Given the description of an element on the screen output the (x, y) to click on. 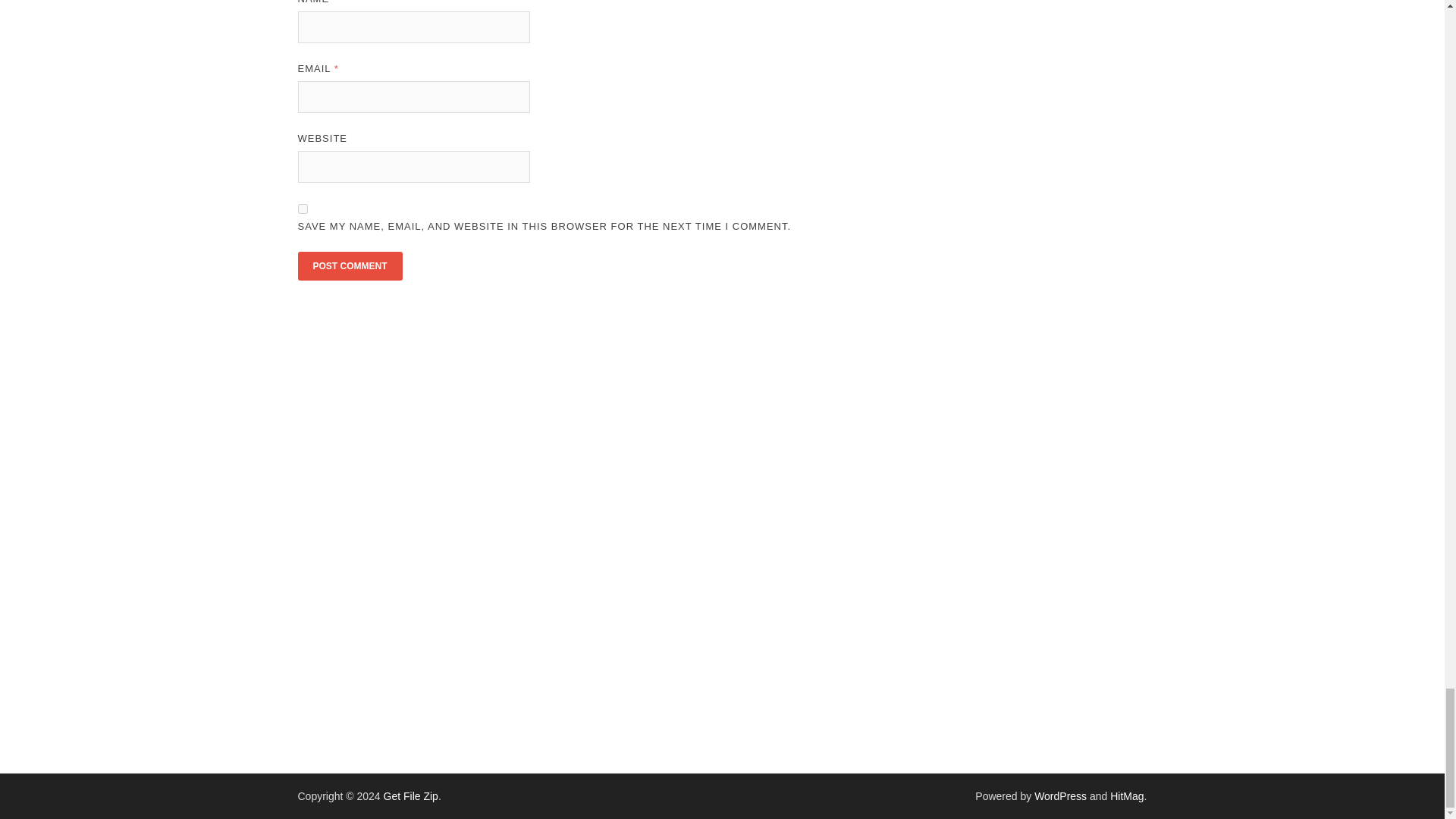
Post Comment (349, 265)
yes (302, 208)
